Given the description of an element on the screen output the (x, y) to click on. 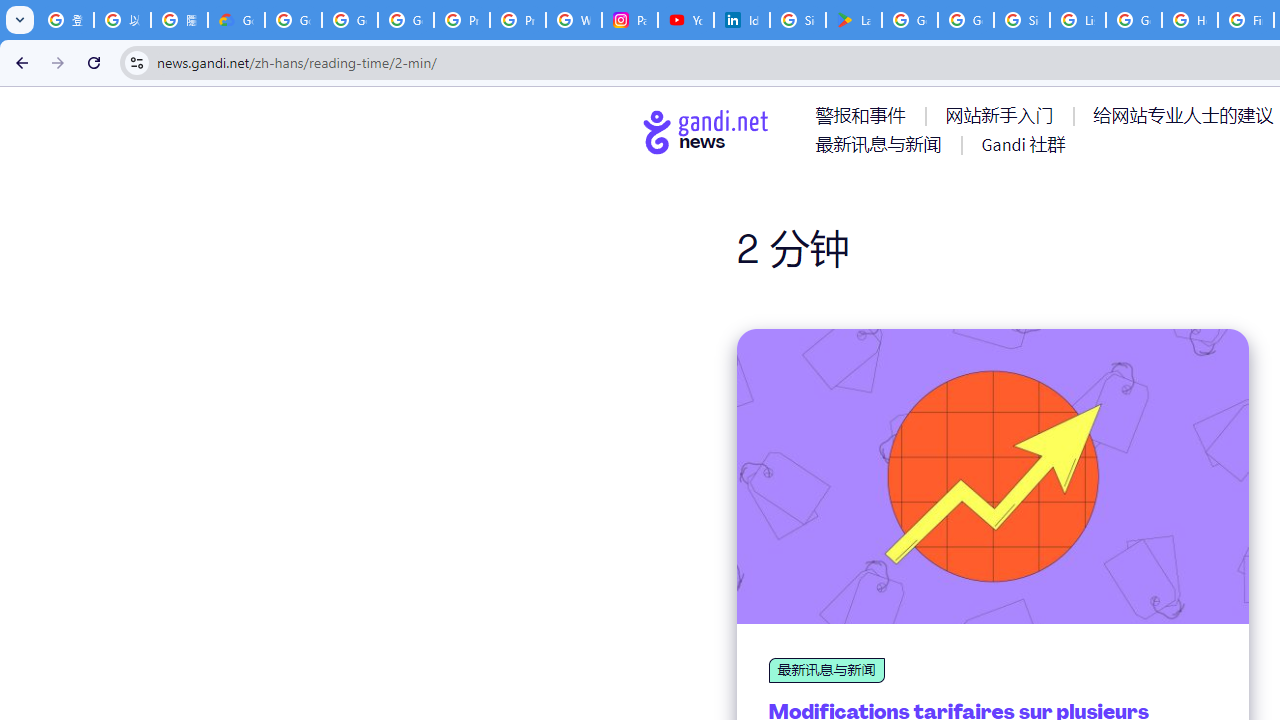
How do I create a new Google Account? - Google Account Help (1190, 20)
AutomationID: menu-item-77767 (1022, 143)
Privacy Help Center - Policies Help (518, 20)
AutomationID: menu-item-77761 (863, 115)
